Given the description of an element on the screen output the (x, y) to click on. 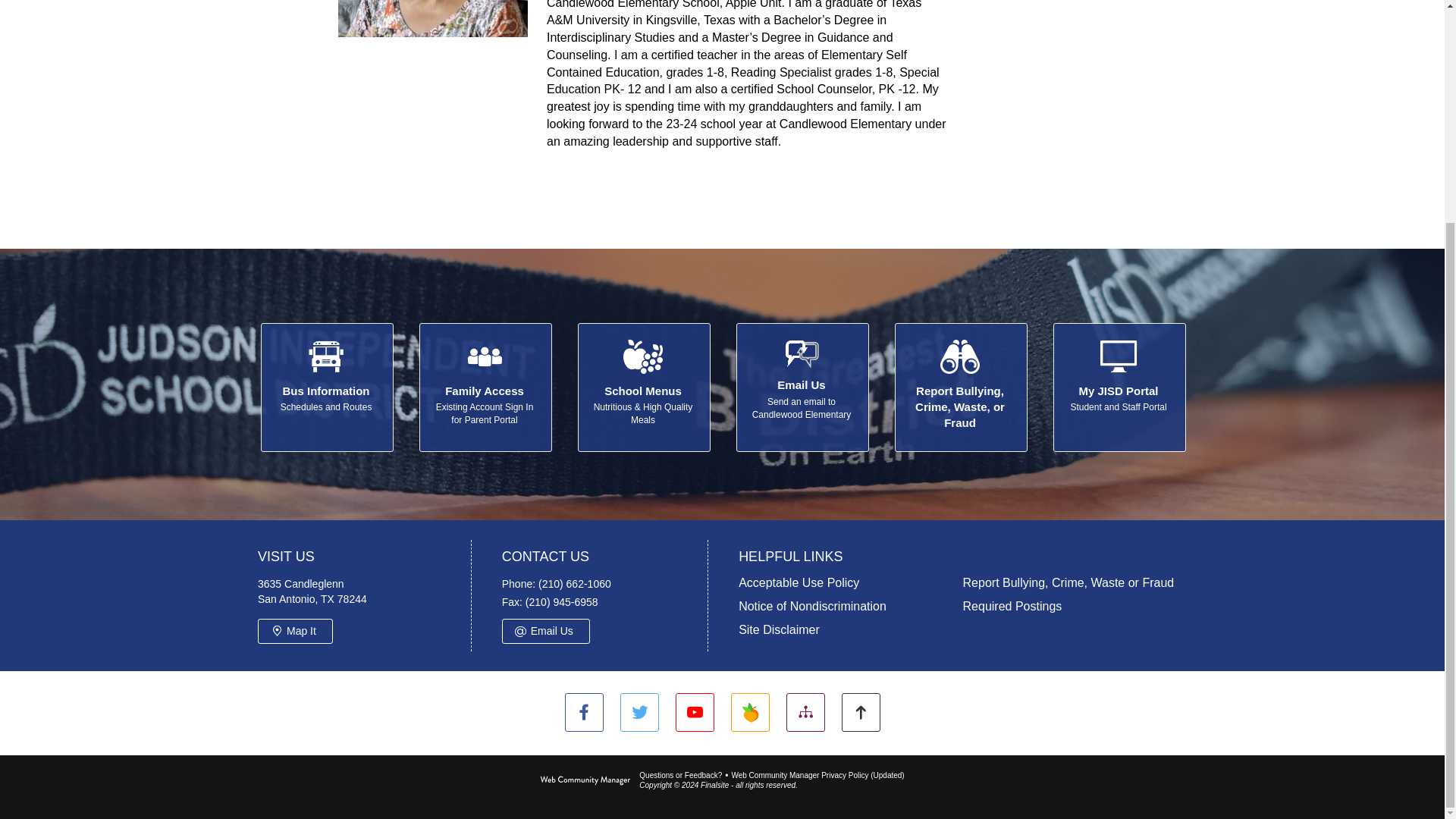
Click to email the primary contact (680, 775)
Finalsite - all rights reserved (585, 780)
